Given the description of an element on the screen output the (x, y) to click on. 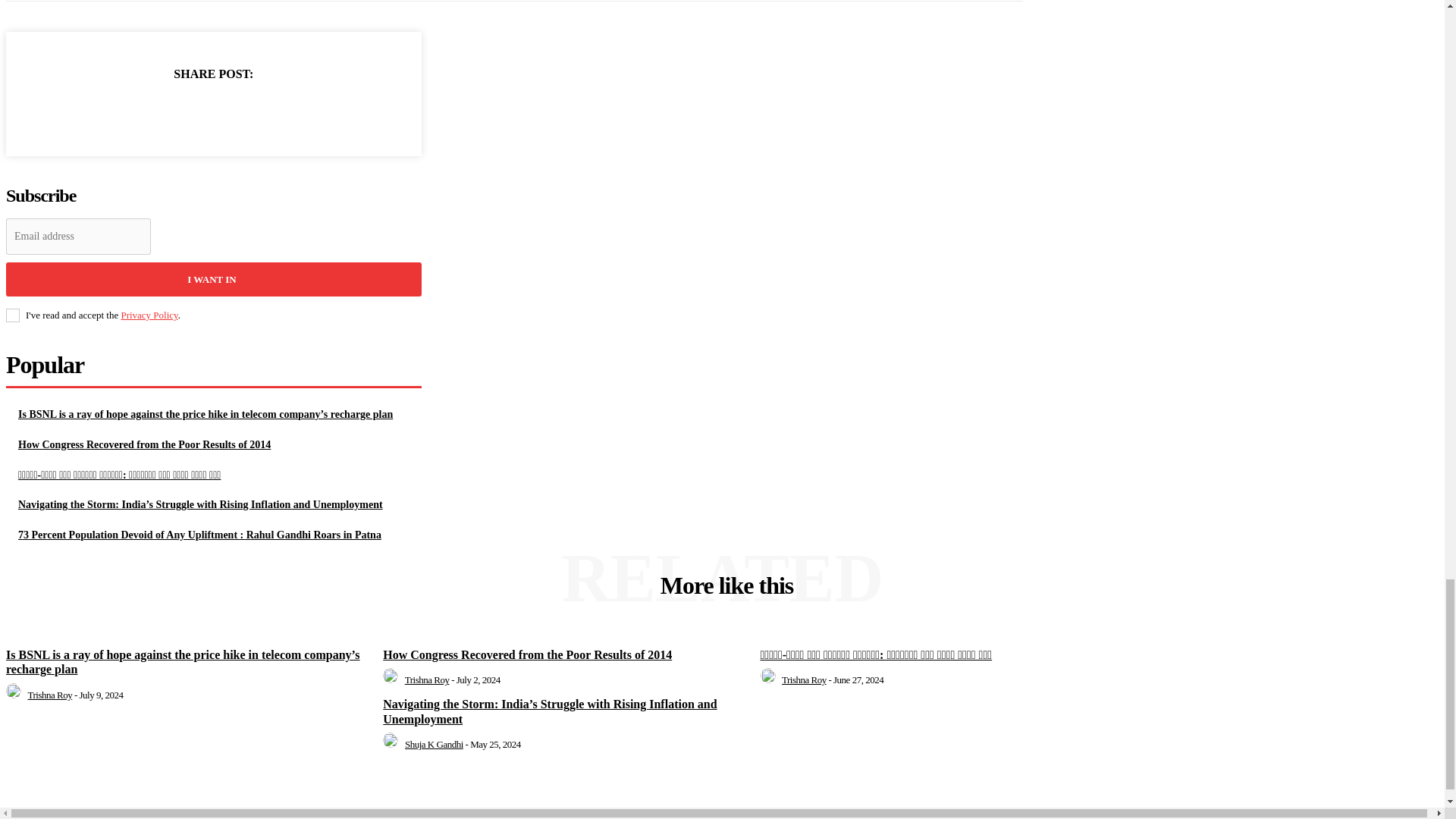
How Congress Recovered from the Poor Results of 2014 (143, 444)
